Given the description of an element on the screen output the (x, y) to click on. 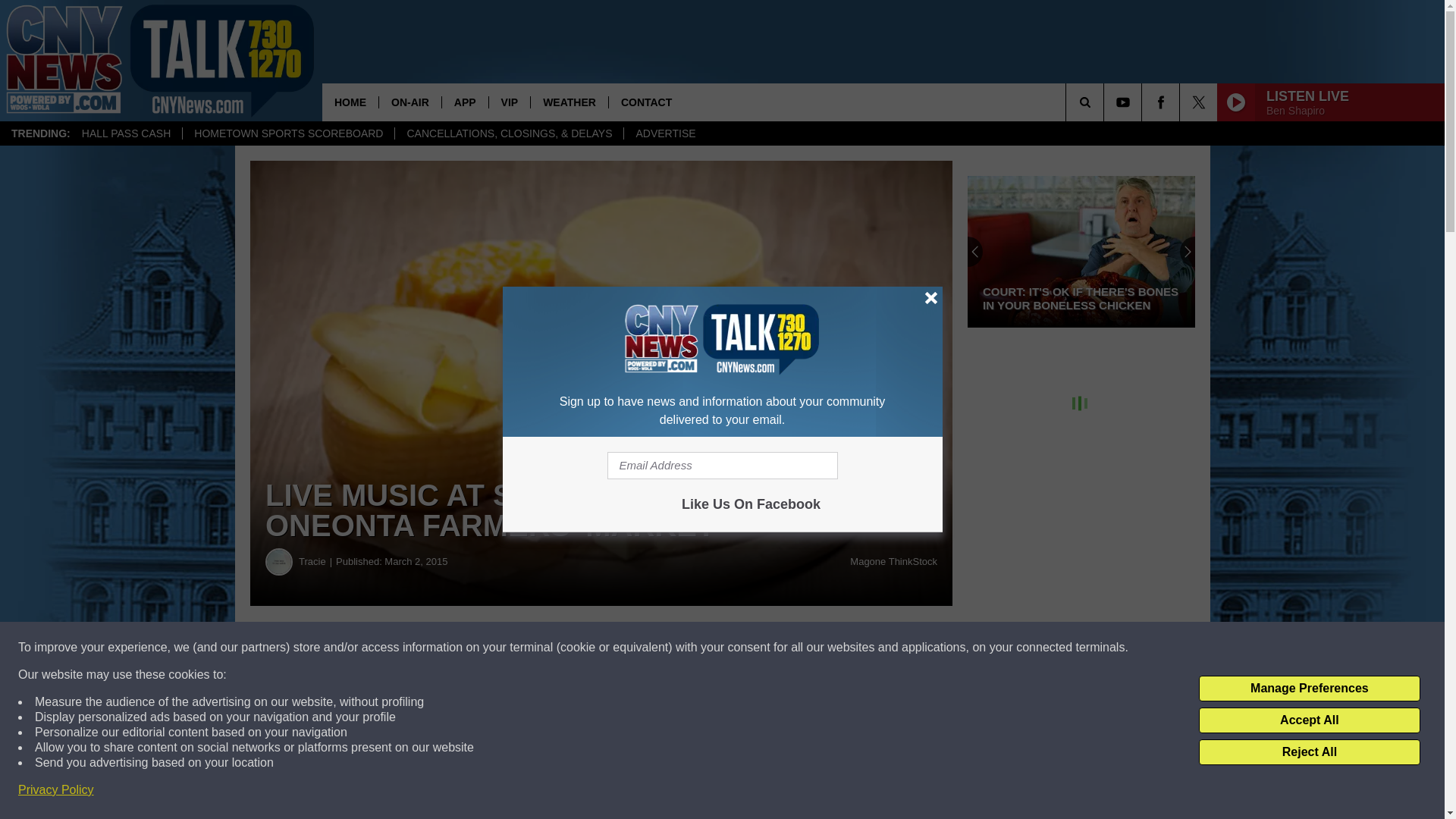
HOMETOWN SPORTS SCOREBOARD (288, 133)
WEATHER (568, 102)
APP (464, 102)
Privacy Policy (55, 789)
HALL PASS CASH (126, 133)
Accept All (1309, 720)
SEARCH (1106, 102)
Share on Twitter (741, 647)
SEARCH (1106, 102)
Share on Facebook (460, 647)
VIP (509, 102)
ON-AIR (409, 102)
Email Address (722, 465)
Manage Preferences (1309, 688)
Reject All (1309, 751)
